Given the description of an element on the screen output the (x, y) to click on. 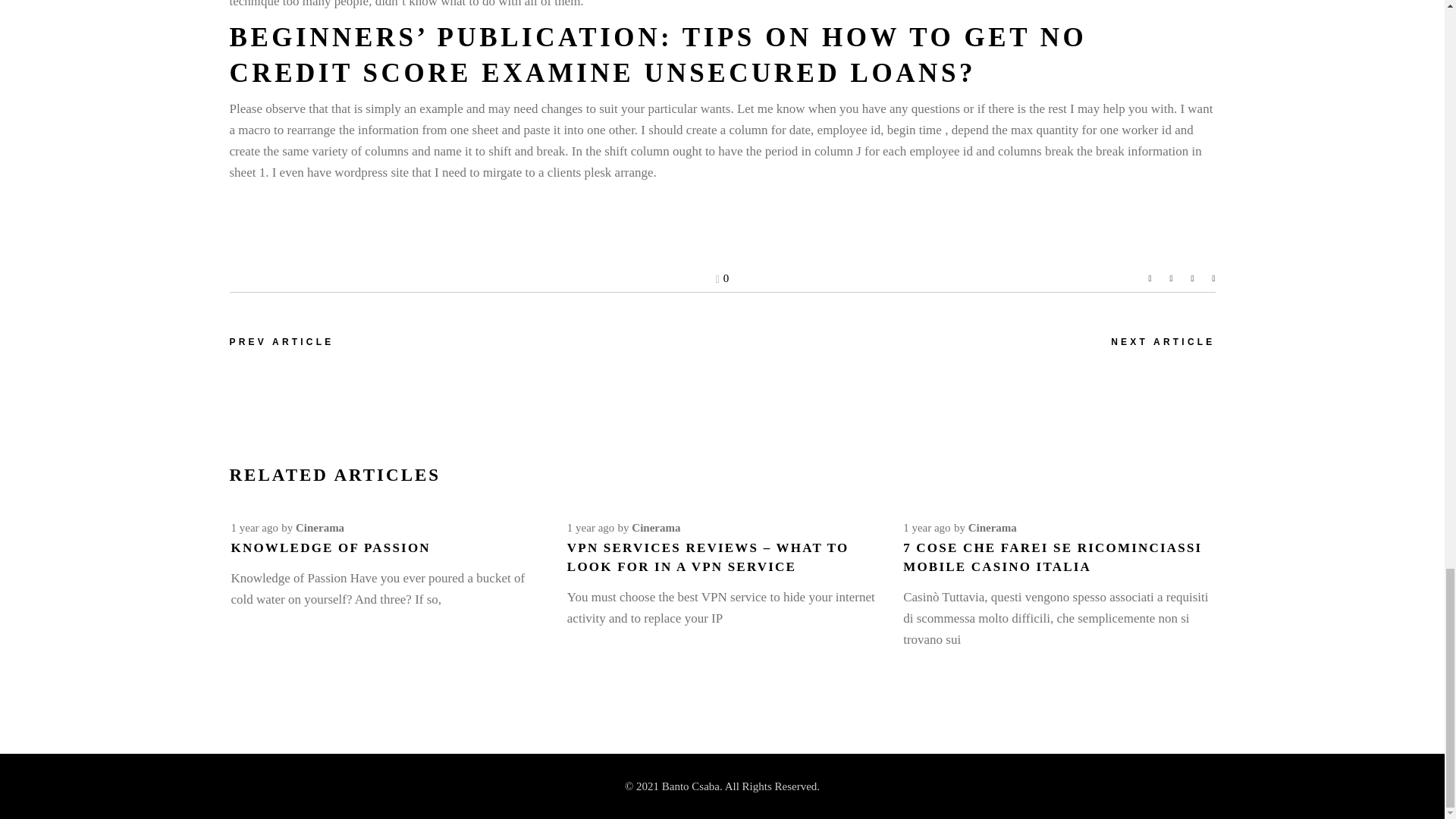
Cinerama (992, 527)
7 cose che farei se ricominciassi mobile casino italia (1052, 557)
PREV ARTICLE (280, 342)
Knowledge of Passion (329, 547)
0 (722, 277)
Like this (722, 277)
7 COSE CHE FAREI SE RICOMINCIASSI MOBILE CASINO ITALIA (1052, 557)
Cinerama (319, 527)
Cinerama (655, 527)
NEXT ARTICLE (1162, 342)
KNOWLEDGE OF PASSION (329, 547)
